Given the description of an element on the screen output the (x, y) to click on. 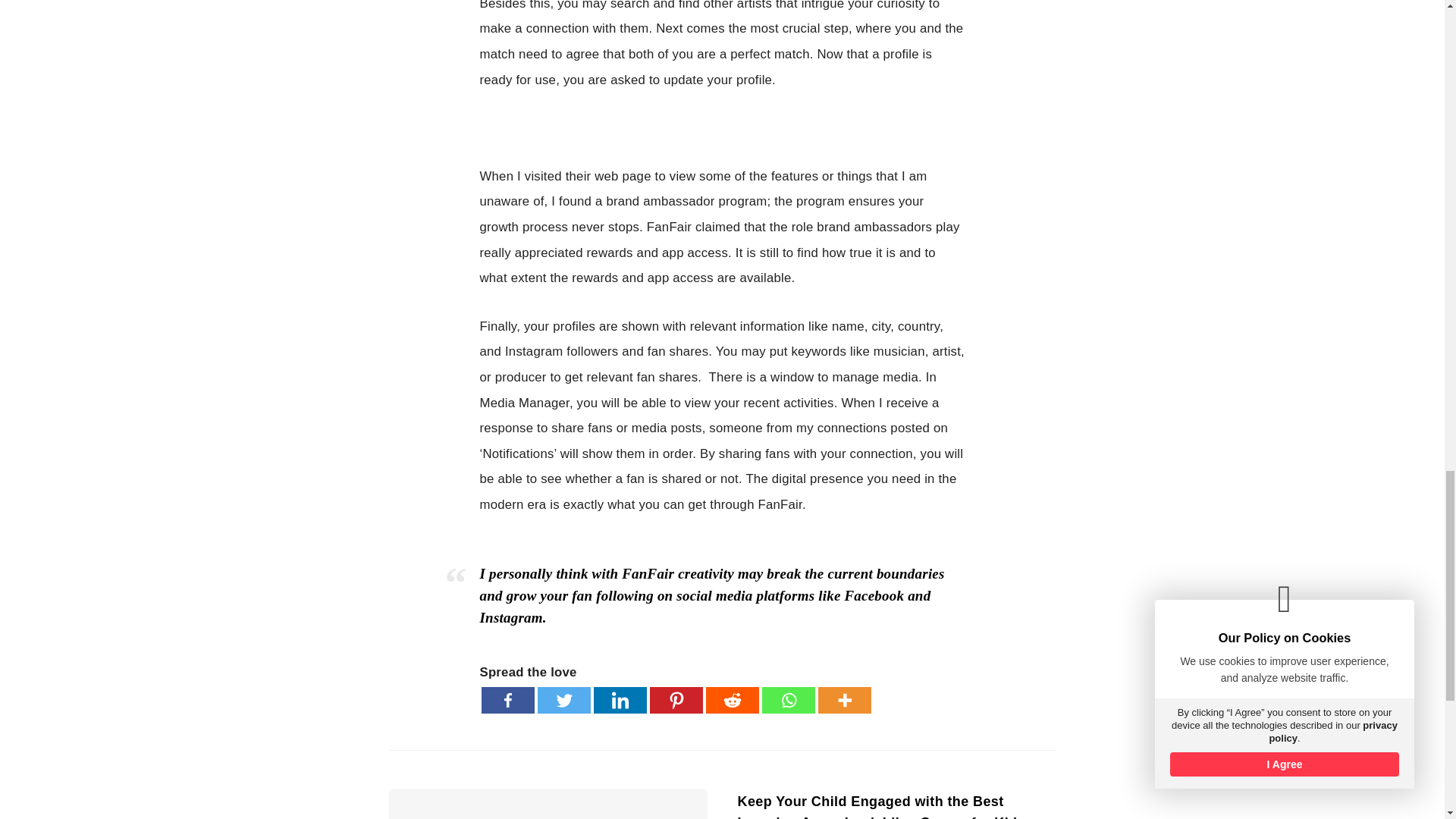
Facebook (507, 700)
Whatsapp (787, 700)
Pinterest (675, 700)
Linkedin (619, 700)
Reddit (731, 700)
Twitter (563, 700)
More (843, 700)
